Given the description of an element on the screen output the (x, y) to click on. 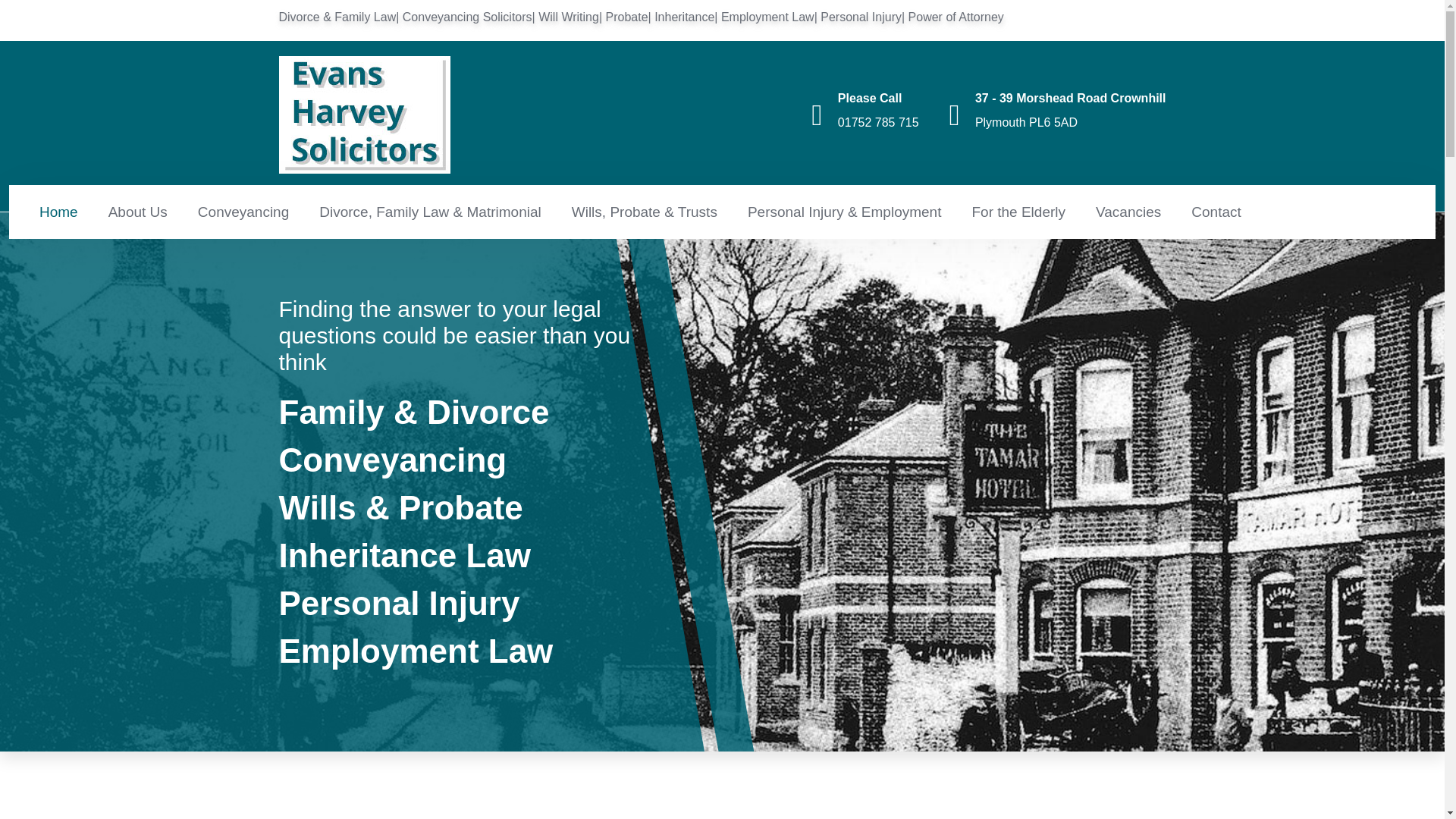
Inheritance (683, 16)
Contact (1215, 211)
Will Writing (568, 16)
Employment Law (766, 16)
About Us (137, 211)
01752 785 715 (878, 121)
Home (58, 211)
Power of Attorney (956, 16)
For the Elderly (1018, 211)
Vacancies (1128, 211)
Personal Injury (861, 16)
Conveyancing (243, 211)
Probate (626, 16)
Conveyancing Solicitors (467, 16)
